Given the description of an element on the screen output the (x, y) to click on. 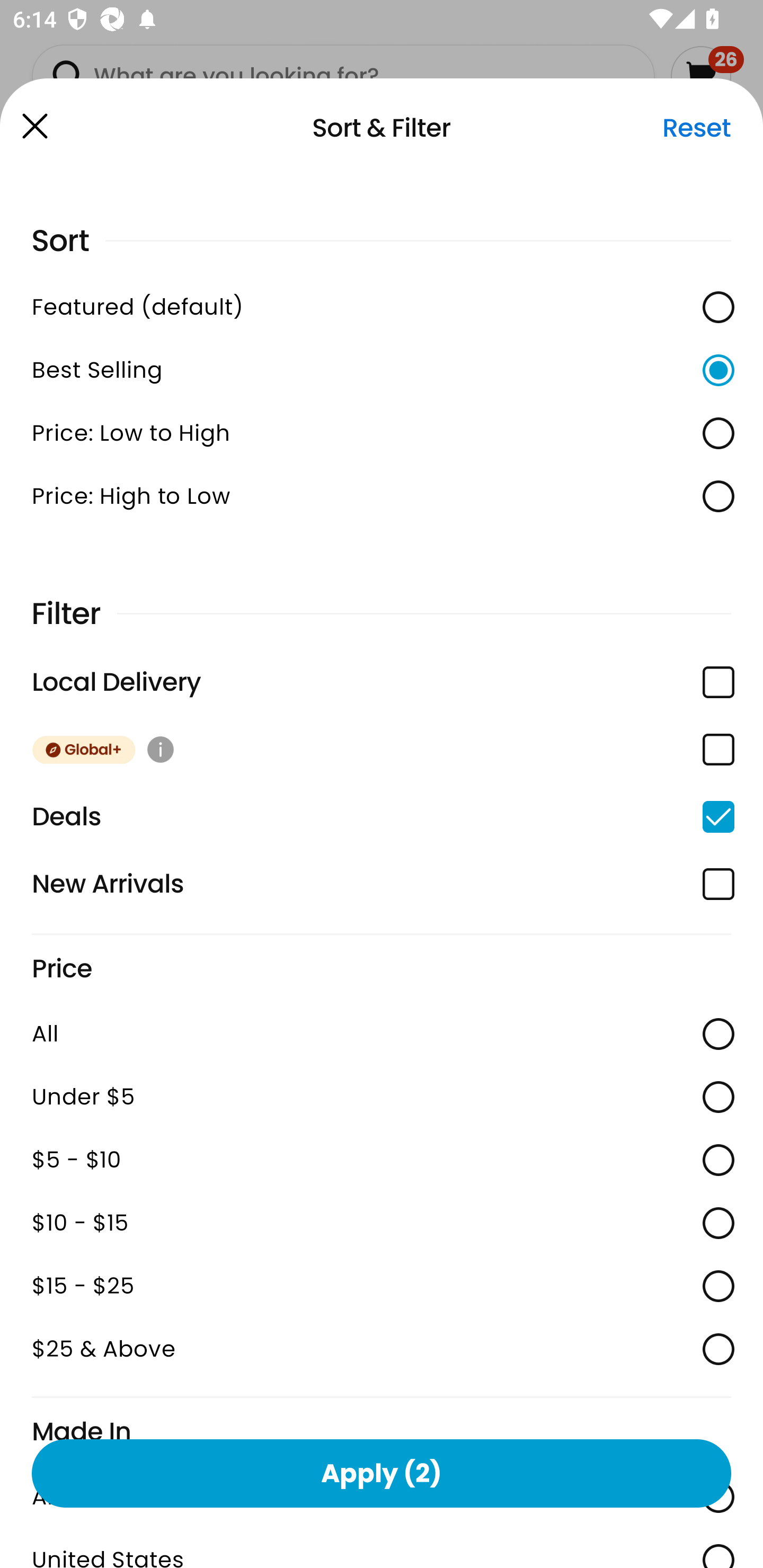
Reset (696, 127)
Apply (2) (381, 1472)
